Given the description of an element on the screen output the (x, y) to click on. 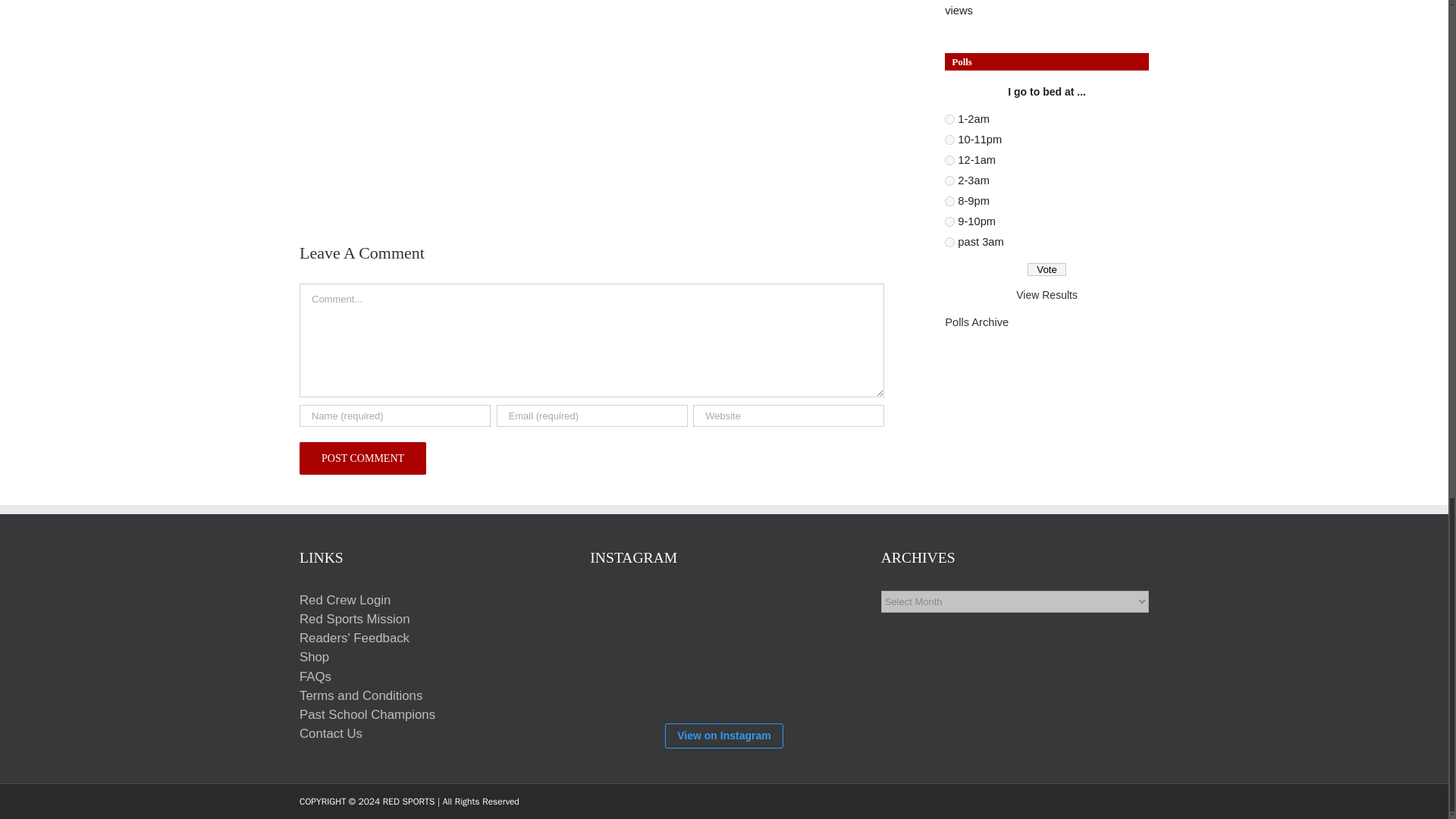
15734 (949, 221)
15735 (949, 139)
15739 (949, 242)
15733 (949, 201)
Post Comment (362, 458)
15736 (949, 160)
15737 (949, 119)
   Vote    (1046, 269)
15738 (949, 180)
